Given the description of an element on the screen output the (x, y) to click on. 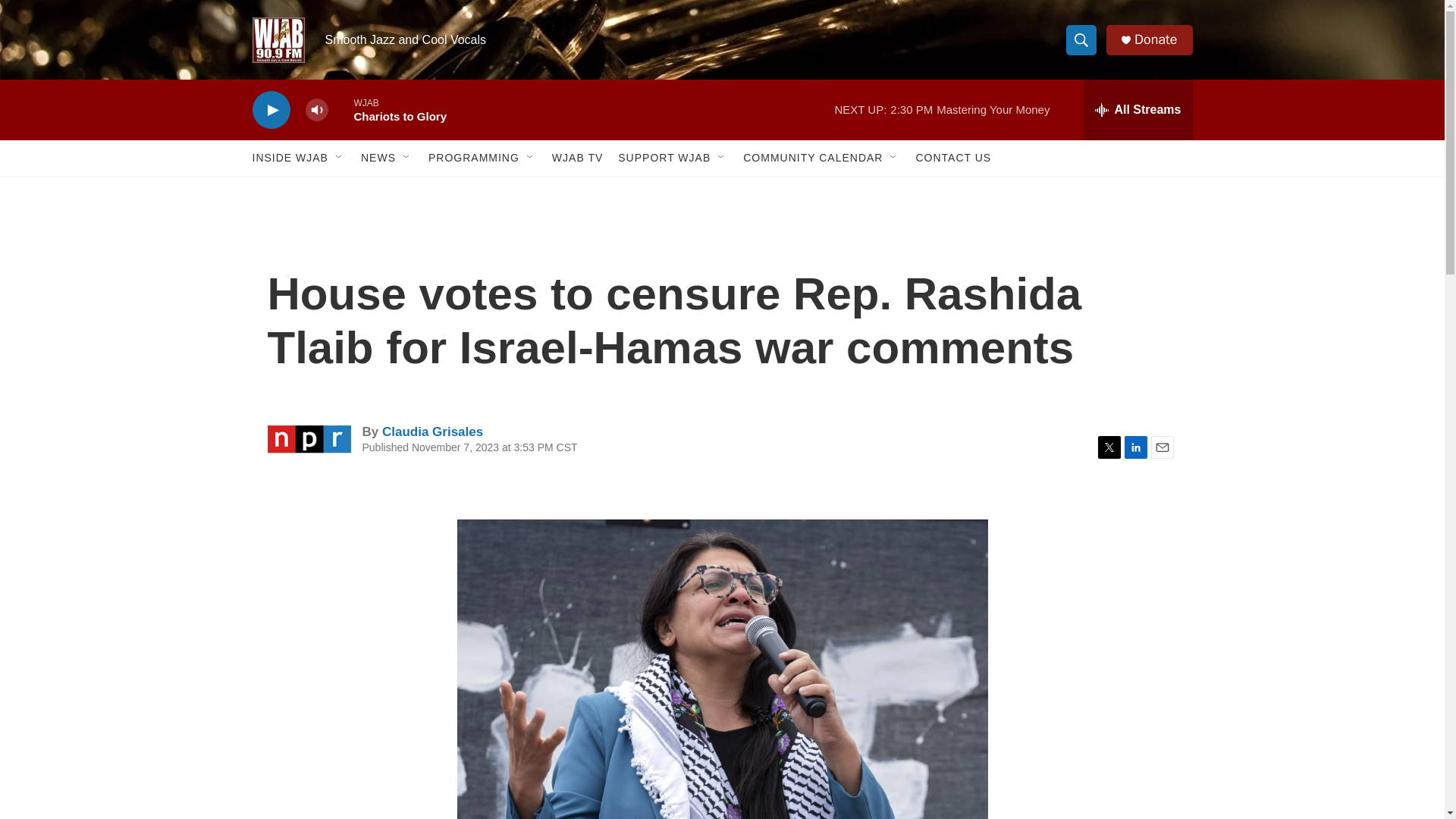
Donate (1155, 39)
Show Search (1080, 39)
